Given the description of an element on the screen output the (x, y) to click on. 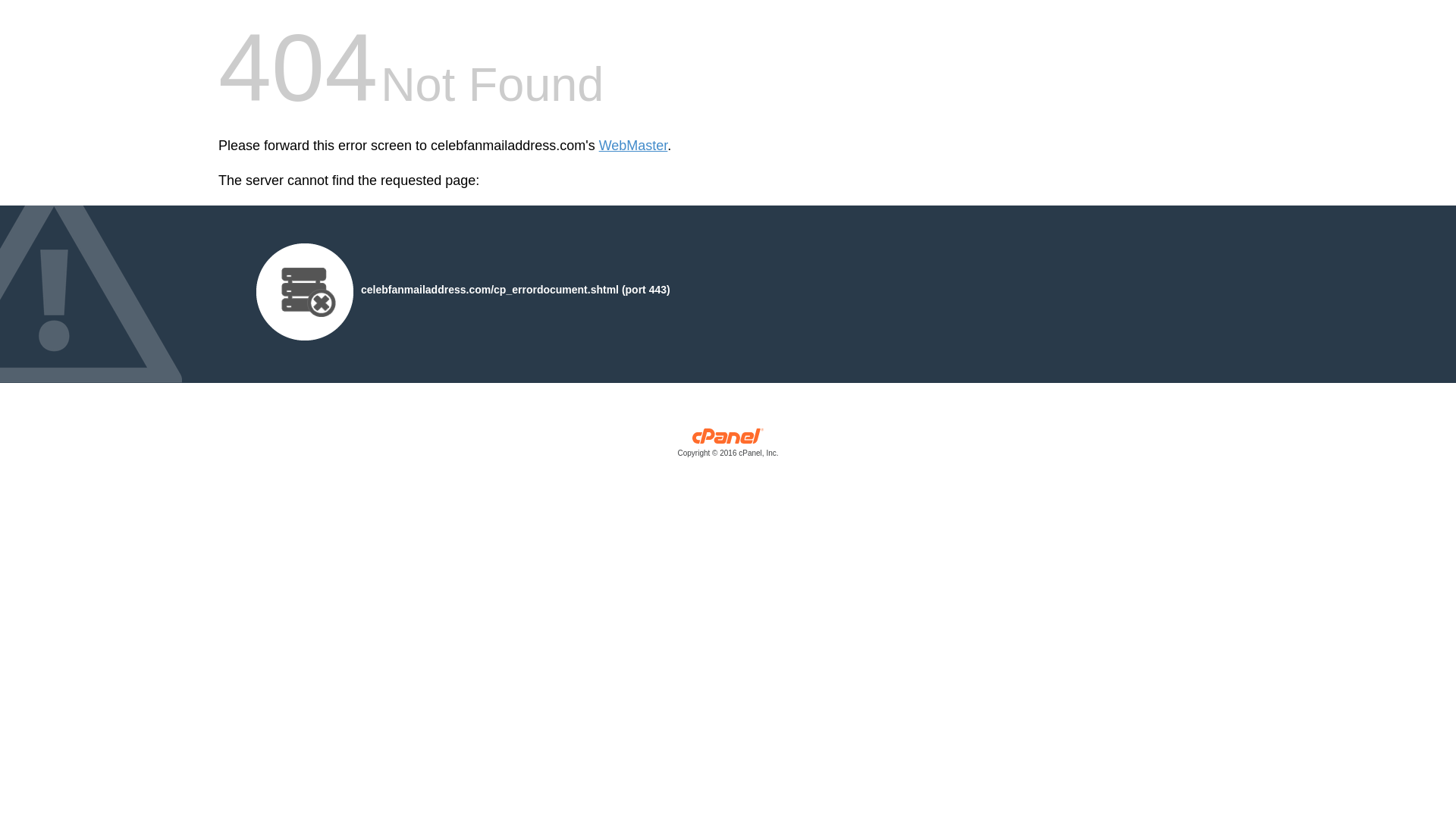
cPanel, Inc. (727, 446)
WebMaster (633, 145)
